Given the description of an element on the screen output the (x, y) to click on. 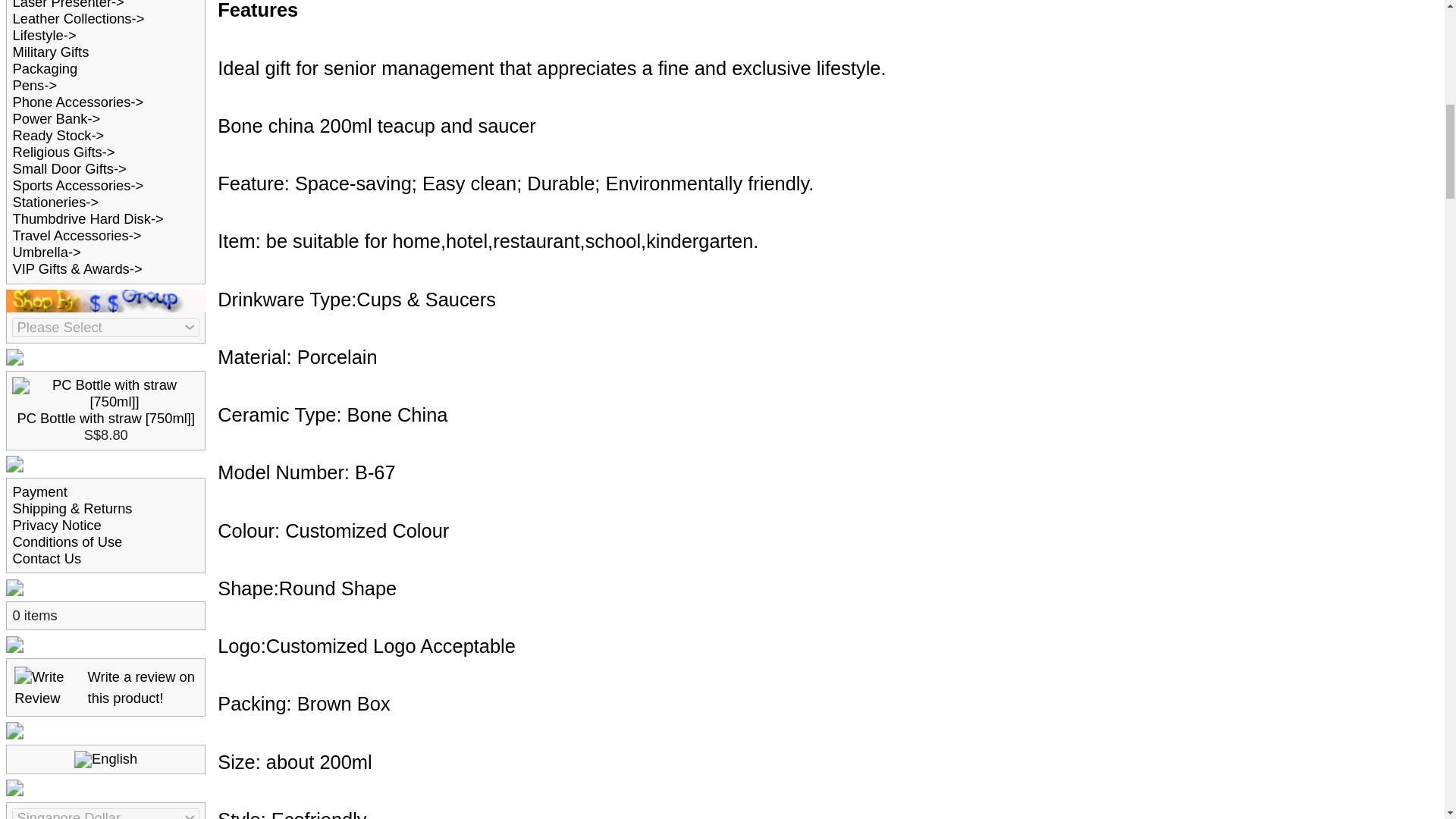
 Add to Cart  (972, 698)
Write Review (34, 247)
Notifications (37, 420)
English (74, 298)
Reviews (193, 698)
